Given the description of an element on the screen output the (x, y) to click on. 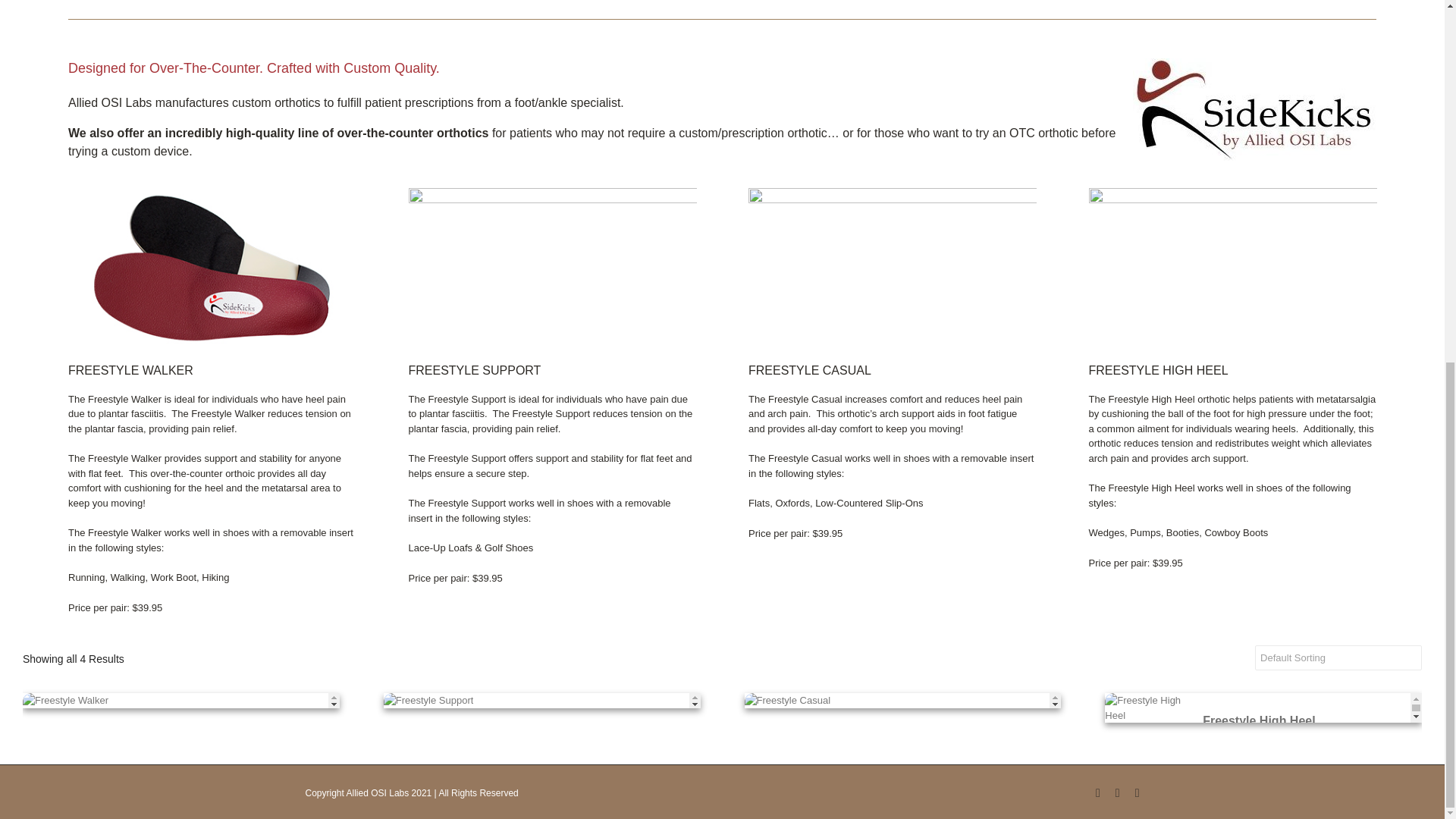
Freestyle Casual (892, 268)
Freestyle Support (551, 268)
Freestyle High Heel (1233, 268)
Freestyle Walker (212, 268)
